Given the description of an element on the screen output the (x, y) to click on. 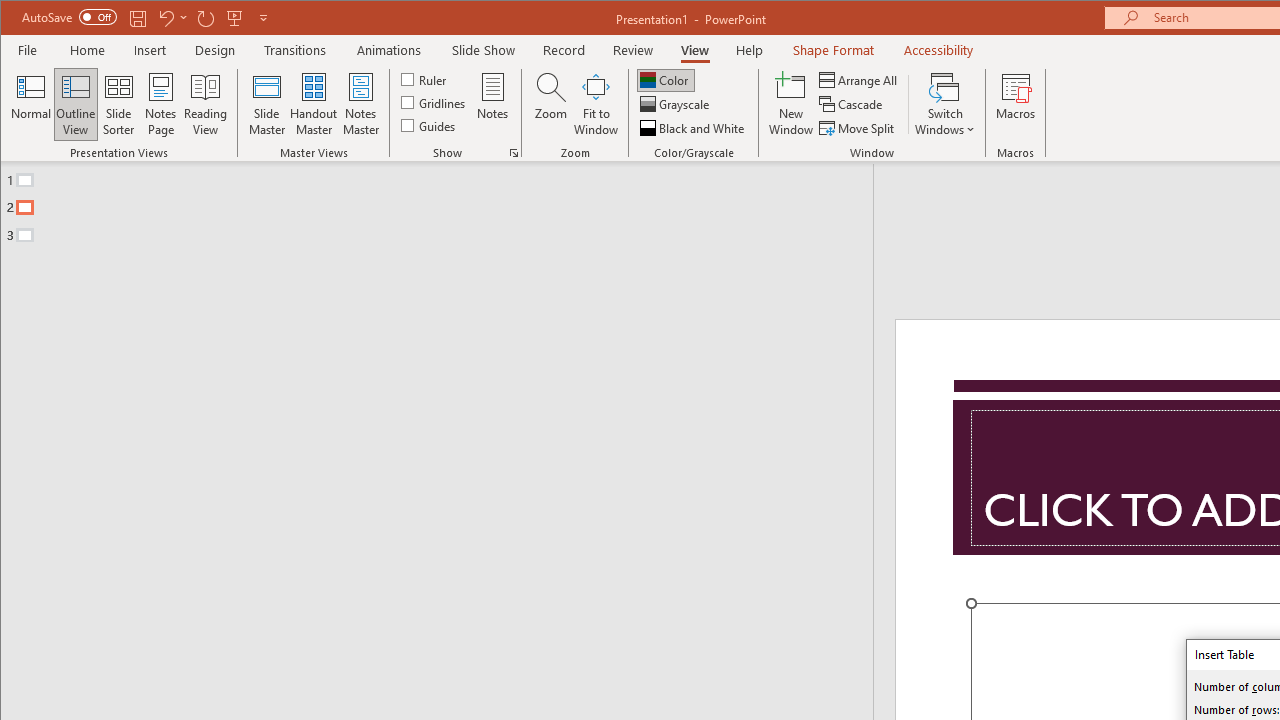
Cascade (852, 103)
Handout Master (314, 104)
Fit to Window (596, 104)
Notes Page (160, 104)
Move Split (858, 127)
Outline (445, 203)
Macros (1016, 104)
Grid Settings... (513, 152)
Notes Master (360, 104)
